Given the description of an element on the screen output the (x, y) to click on. 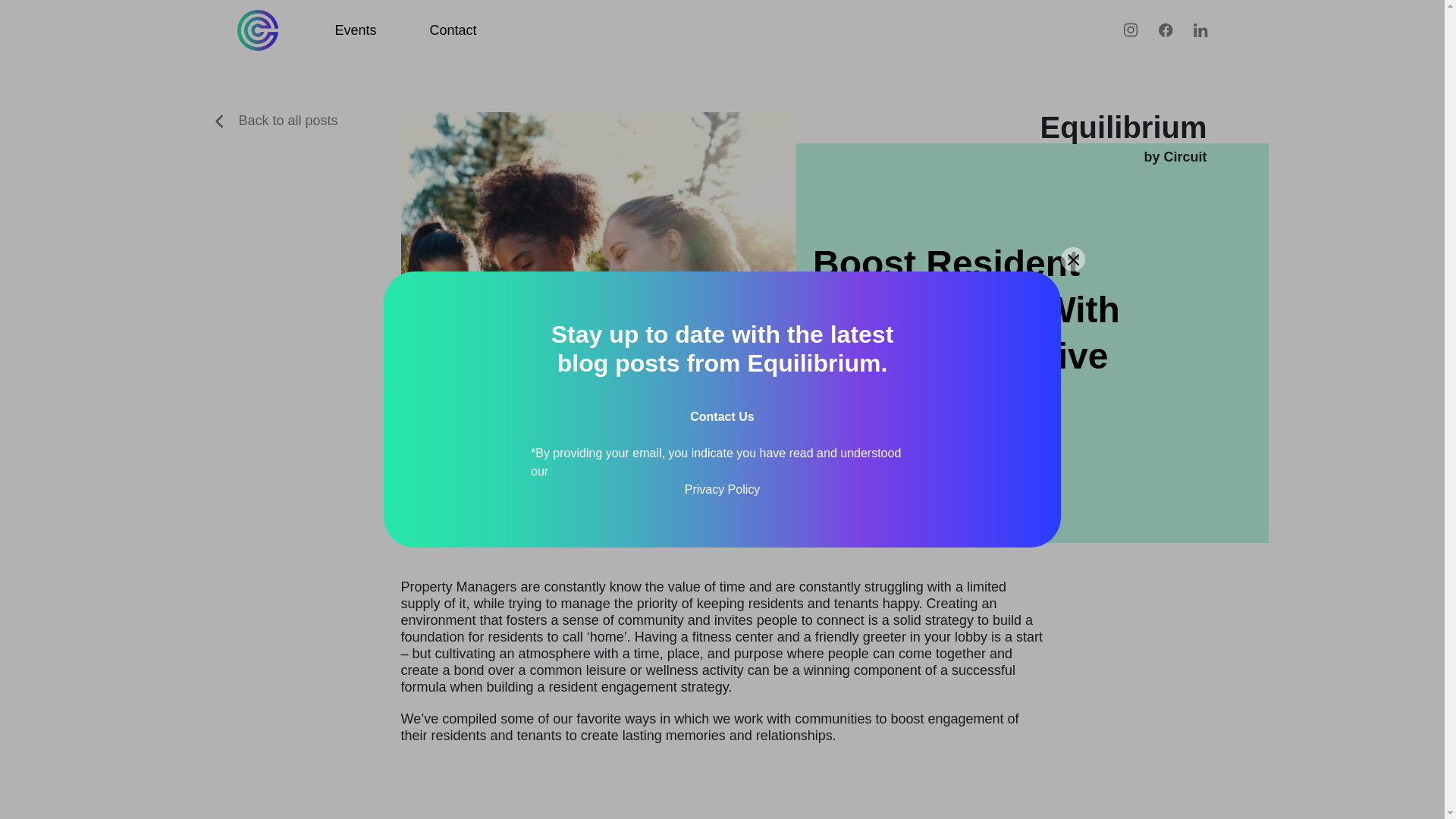
Privacy Policy (722, 489)
Back to all posts (276, 120)
Contact (453, 29)
Contact Us (722, 416)
Events (355, 29)
